Given the description of an element on the screen output the (x, y) to click on. 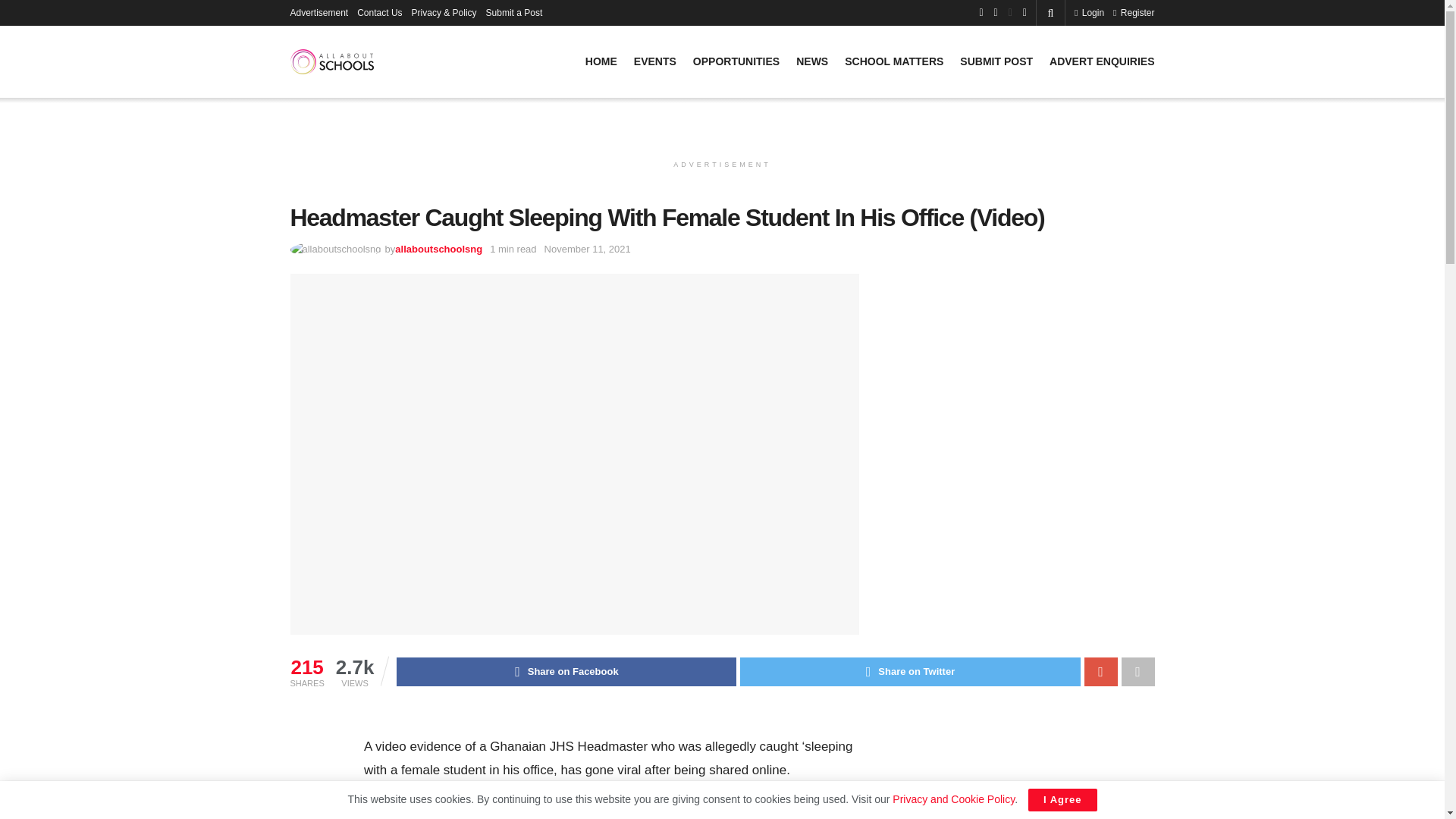
Contact Us (378, 12)
HOME (601, 61)
Register (1133, 12)
November 11, 2021 (587, 248)
Submit a Post (514, 12)
OPPORTUNITIES (735, 61)
allaboutschoolsng (437, 248)
Advertisement (318, 12)
EVENTS (655, 61)
Login (1088, 12)
SCHOOL MATTERS (893, 61)
SUBMIT POST (995, 61)
NEWS (812, 61)
ADVERT ENQUIRIES (1101, 61)
